Given the description of an element on the screen output the (x, y) to click on. 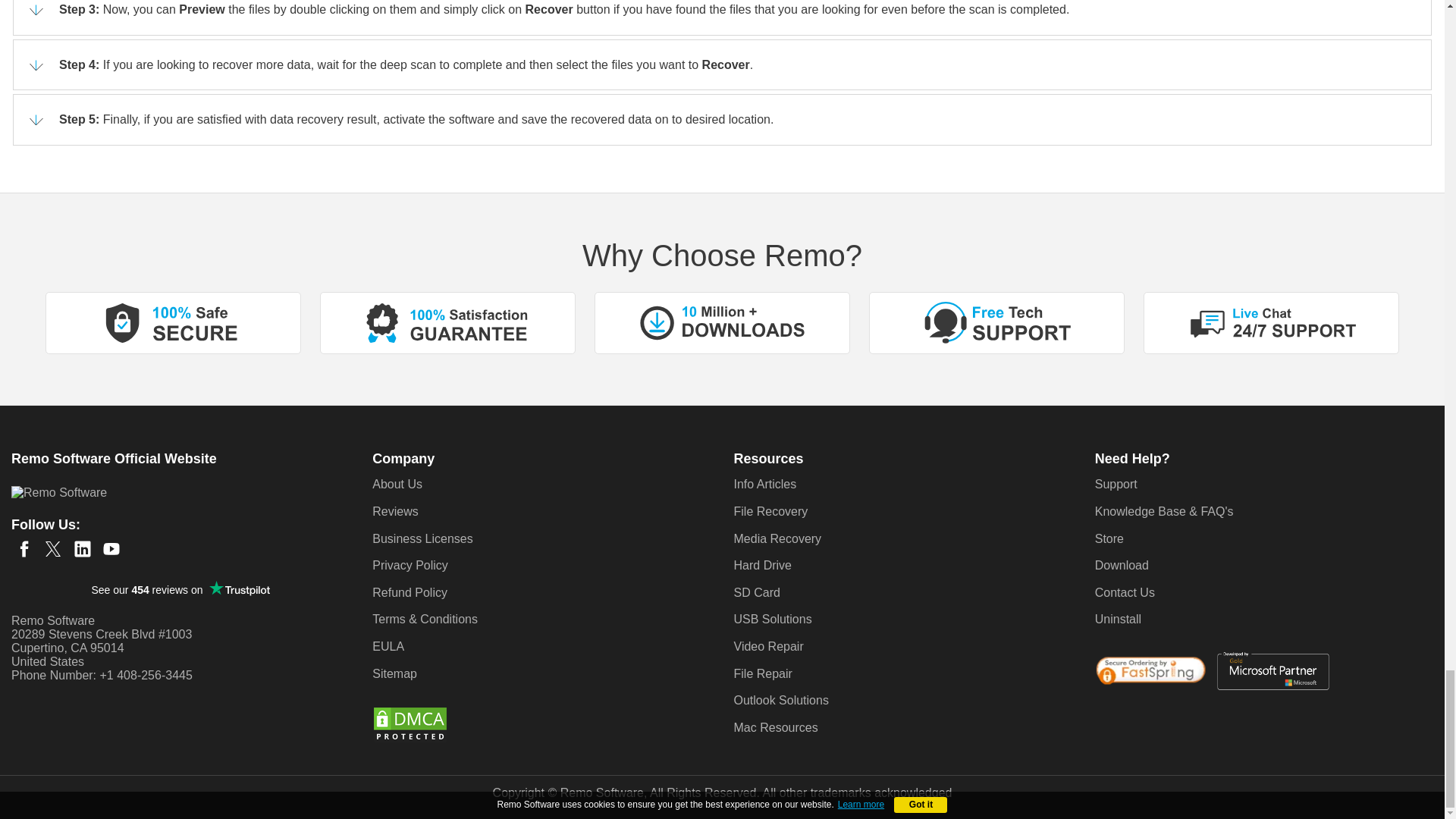
DMCA.com Protection Status (410, 723)
Customer reviews powered by Trustpilot (180, 589)
